Given the description of an element on the screen output the (x, y) to click on. 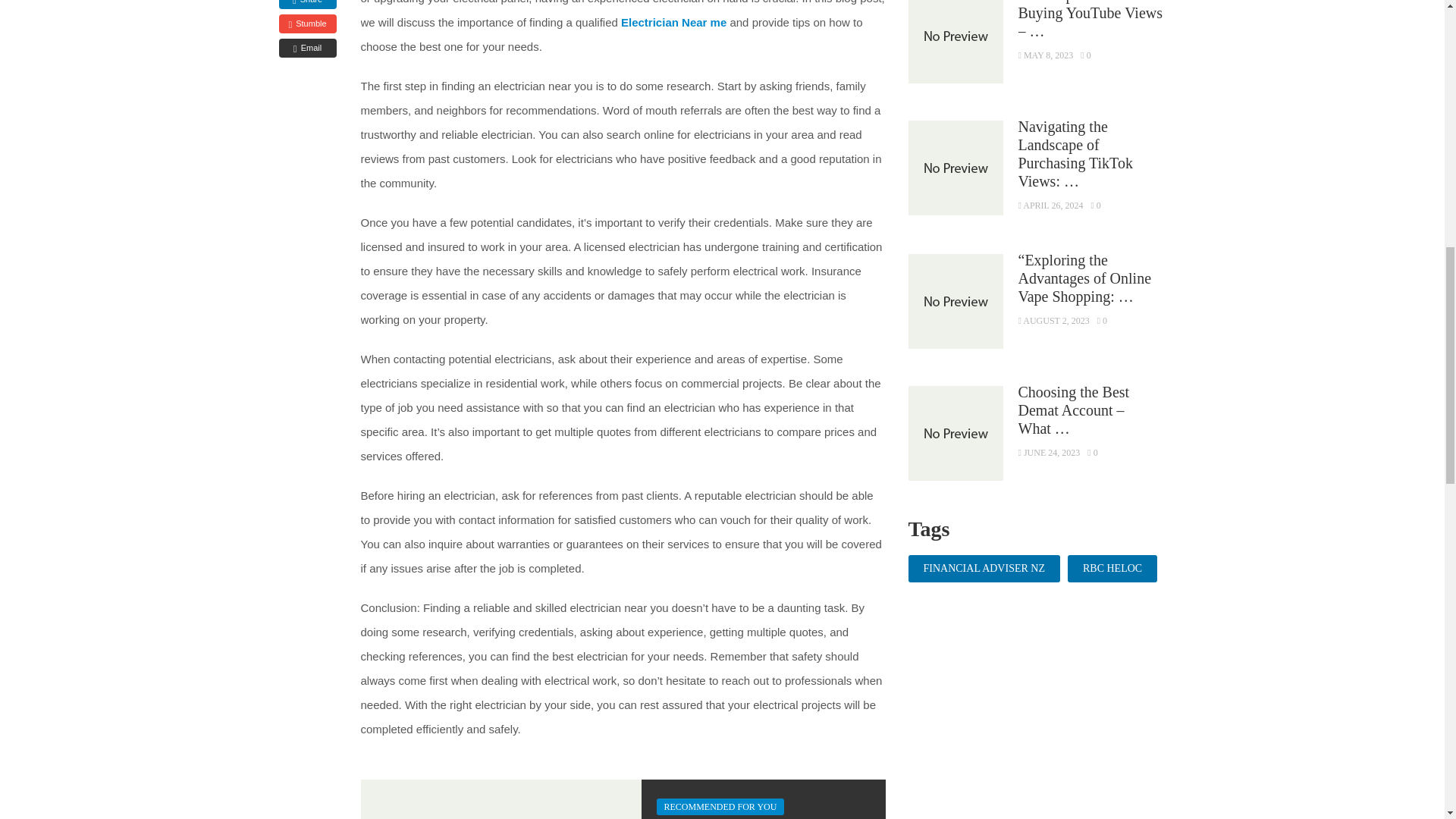
Email (307, 47)
Stumble (307, 23)
Electrician Near me (673, 21)
Share (307, 4)
